Given the description of an element on the screen output the (x, y) to click on. 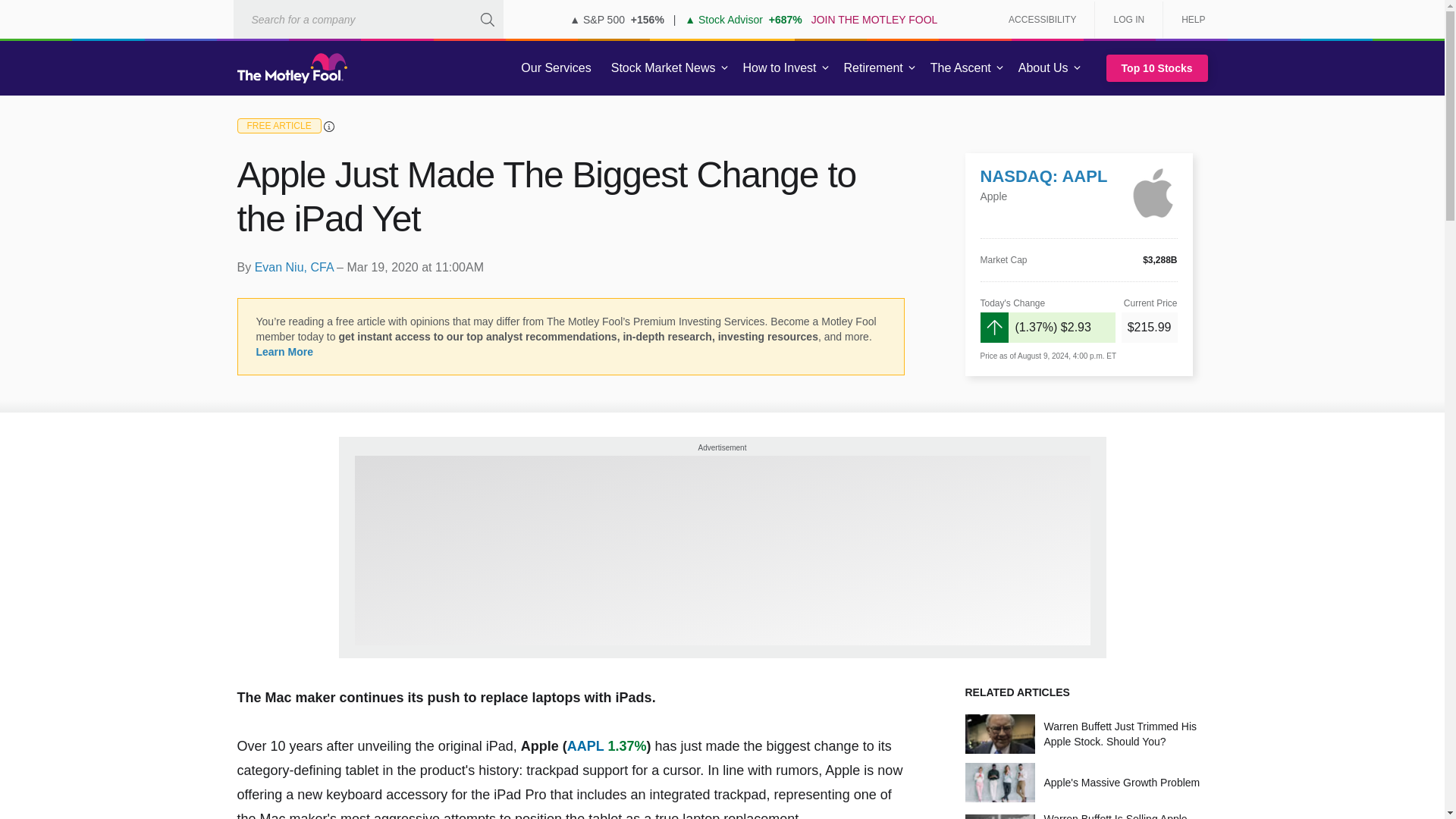
ACCESSIBILITY (1042, 19)
LOG IN (1128, 19)
Our Services (555, 67)
How to Invest (779, 67)
Stock Market News (662, 67)
HELP (1187, 19)
